Given the description of an element on the screen output the (x, y) to click on. 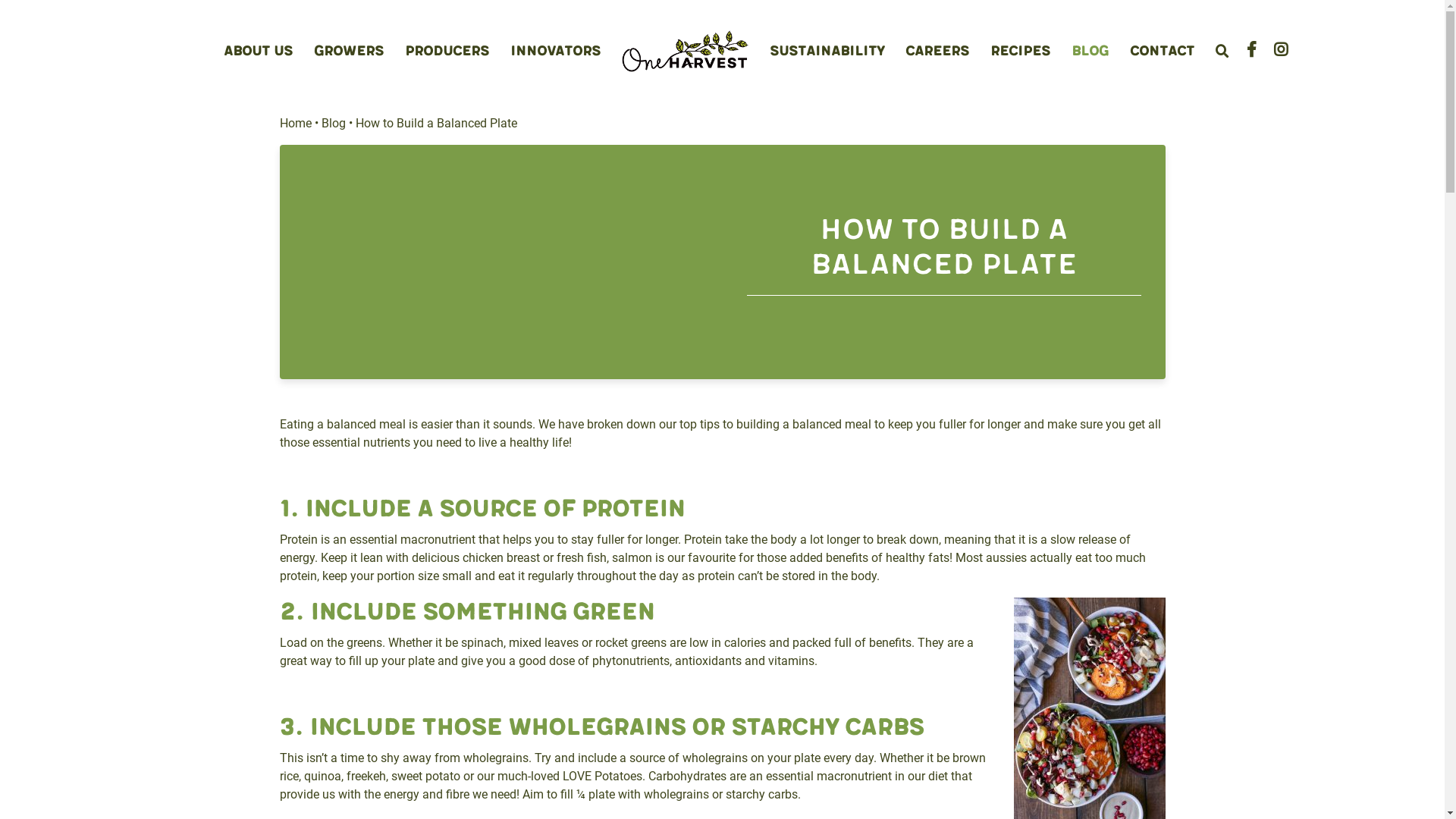
CONTACT Element type: text (1161, 50)
Blog Element type: text (333, 123)
RECIPES Element type: text (1020, 50)
ABOUT US Element type: text (257, 50)
Home Element type: text (294, 123)
HOME Element type: text (684, 51)
SUSTAINABILITY Element type: text (826, 50)
PRODUCERS Element type: text (446, 50)
CAREERS Element type: text (937, 50)
BLOG Element type: text (1089, 50)
INNOVATORS Element type: text (555, 50)
GROWERS Element type: text (348, 50)
